Given the description of an element on the screen output the (x, y) to click on. 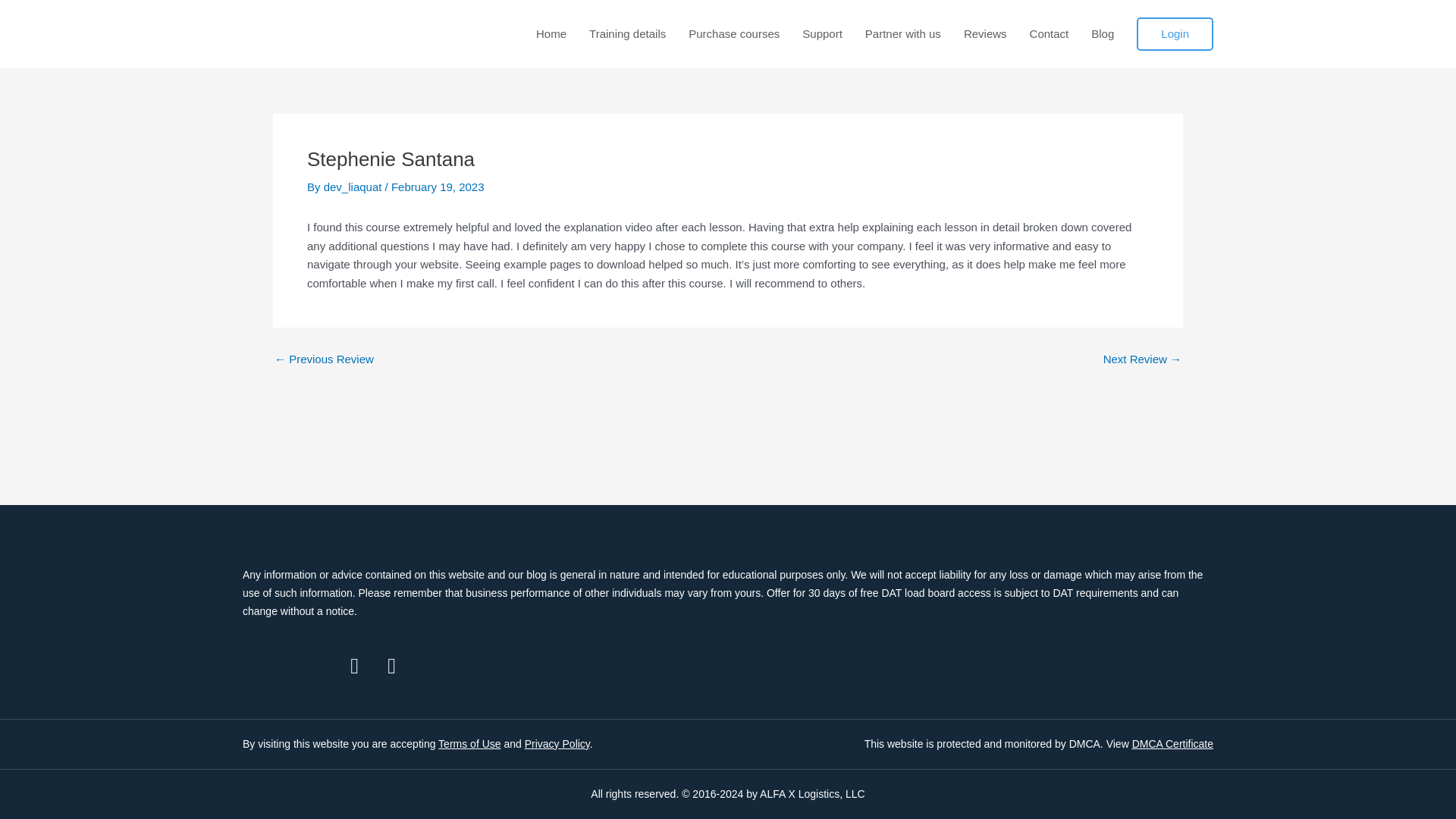
Support (822, 33)
Terms of Use (469, 743)
Privacy Policy (556, 743)
Rondalynn Barnes (1141, 358)
Miriam (324, 358)
Reviews (985, 33)
Youtube-square (391, 666)
Home (550, 33)
Partner with us (902, 33)
Purchase courses (733, 33)
